Given the description of an element on the screen output the (x, y) to click on. 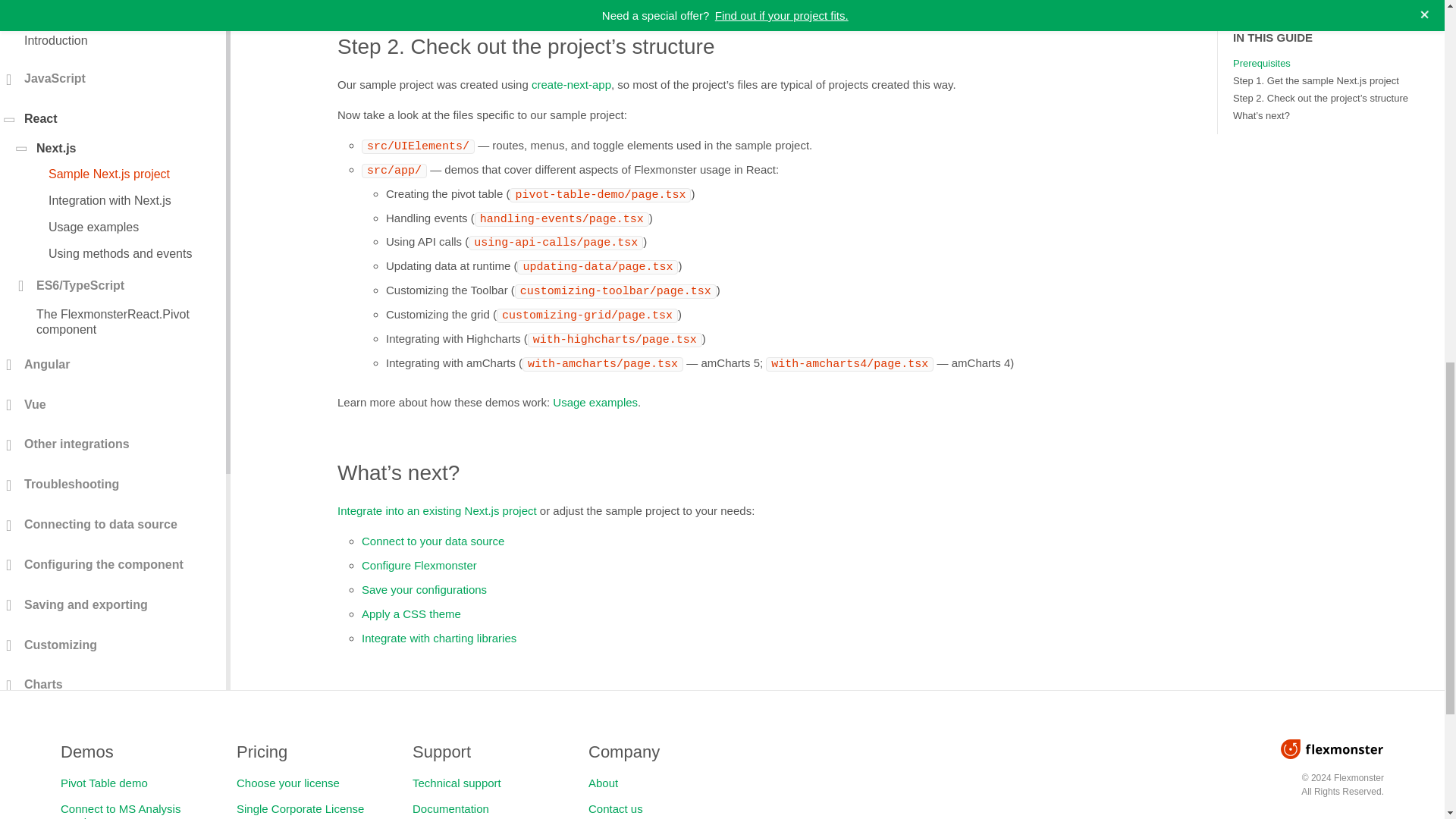
Flexmonster (1332, 749)
